Given the description of an element on the screen output the (x, y) to click on. 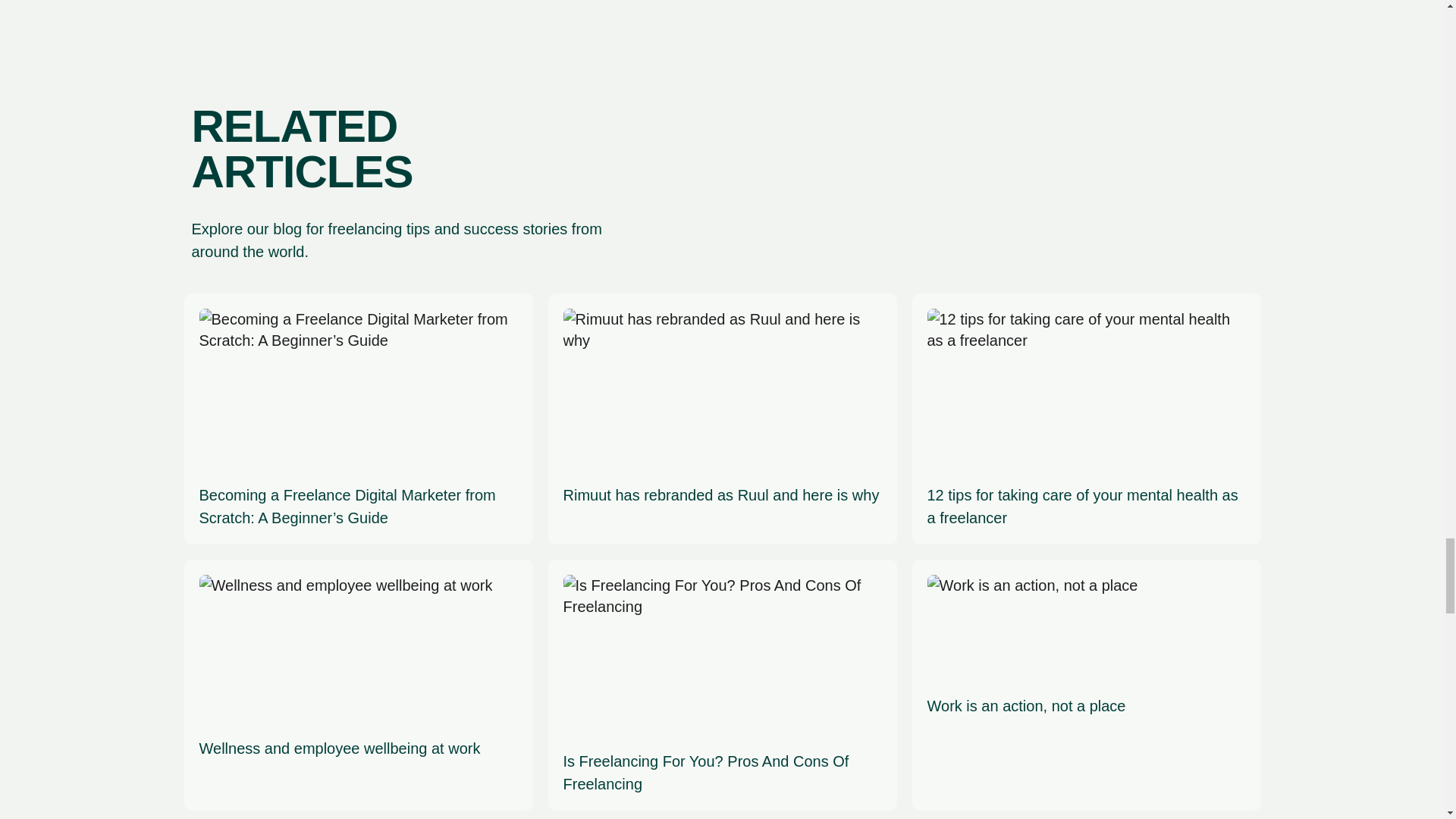
Work is an action, not a place (1031, 645)
Rimuut has rebranded as Ruul and here is why (721, 407)
Is Freelancing For You? Pros And Cons Of Freelancing (721, 684)
Wellness and employee wellbeing at work (345, 667)
